Given the description of an element on the screen output the (x, y) to click on. 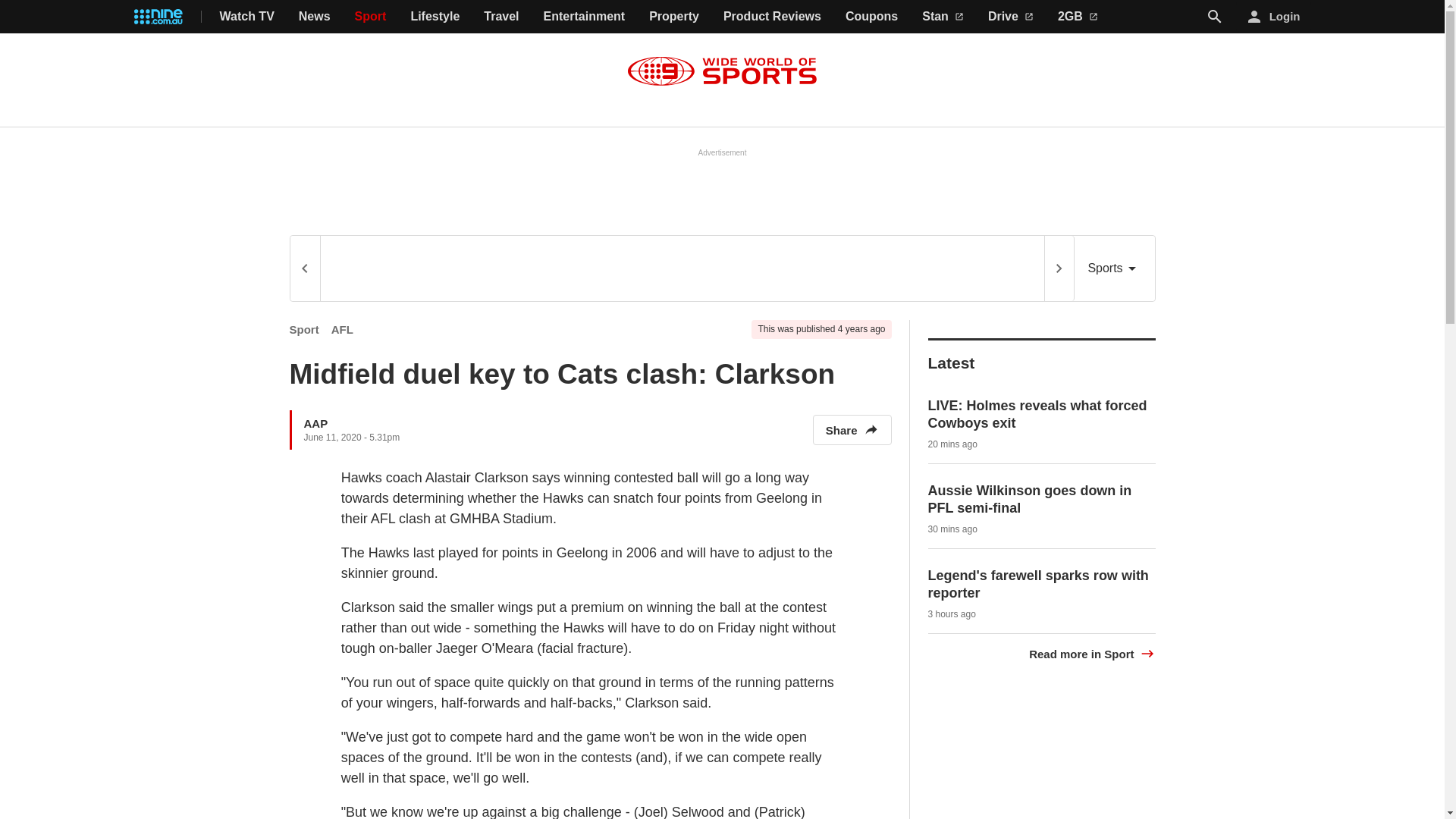
Sports (1114, 268)
Aussie Wilkinson goes down in PFL semi-final (1030, 499)
Drive (1010, 16)
Coupons (871, 16)
Sport (303, 328)
News (314, 16)
Search (1214, 16)
Sport (371, 16)
Travel (500, 16)
Stan (942, 16)
